Given the description of an element on the screen output the (x, y) to click on. 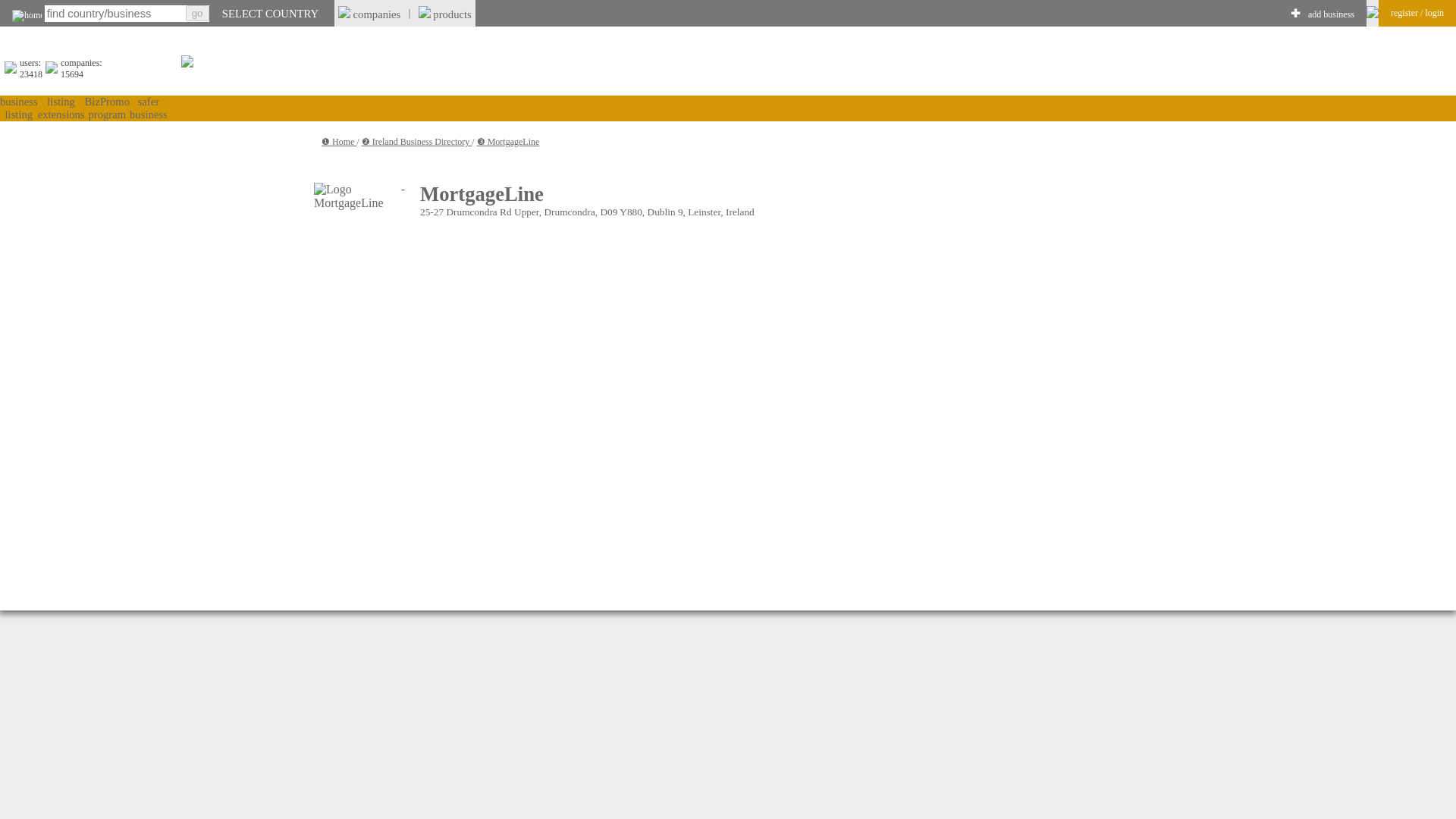
SELECT COUNTRY (270, 13)
BizPromo program (106, 107)
home (26, 15)
listing extensions (60, 107)
business listing (18, 107)
safer business (148, 107)
go (197, 12)
add business (1330, 14)
